Given the description of an element on the screen output the (x, y) to click on. 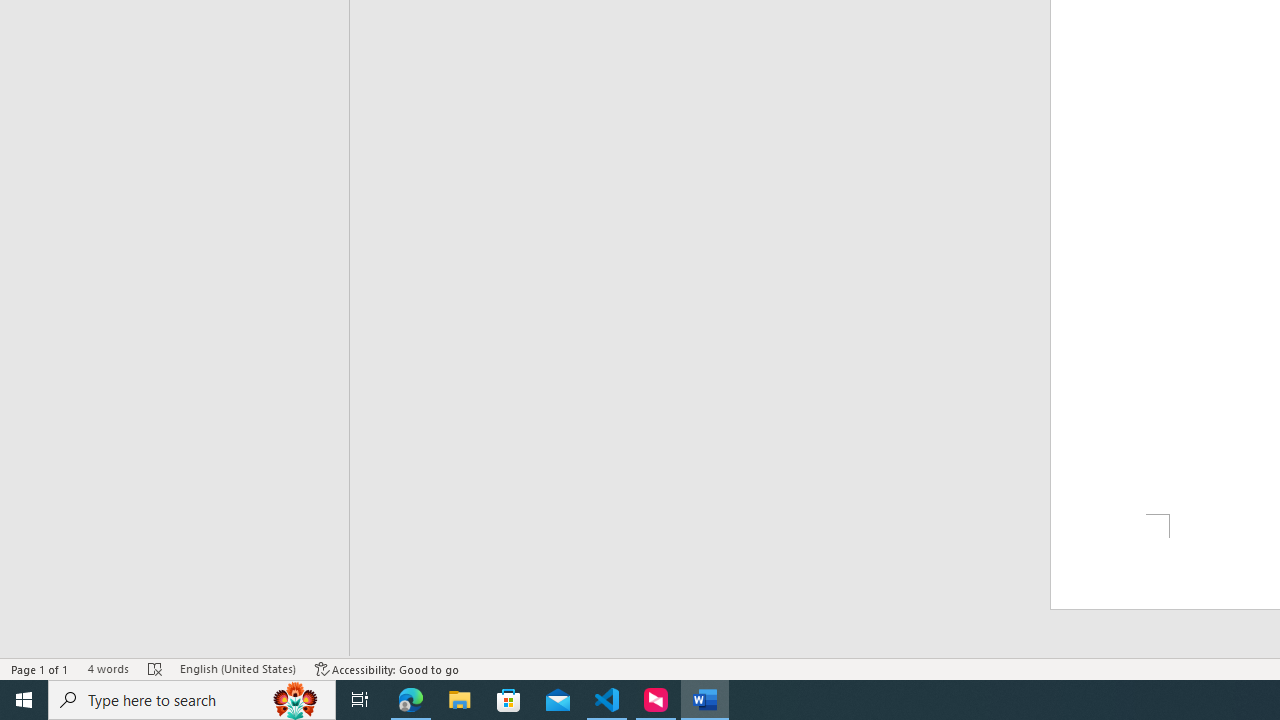
Page Number Page 1 of 1 (39, 668)
Accessibility Checker Accessibility: Good to go (387, 668)
Spelling and Grammar Check Errors (155, 668)
Language English (United States) (237, 668)
